Given the description of an element on the screen output the (x, y) to click on. 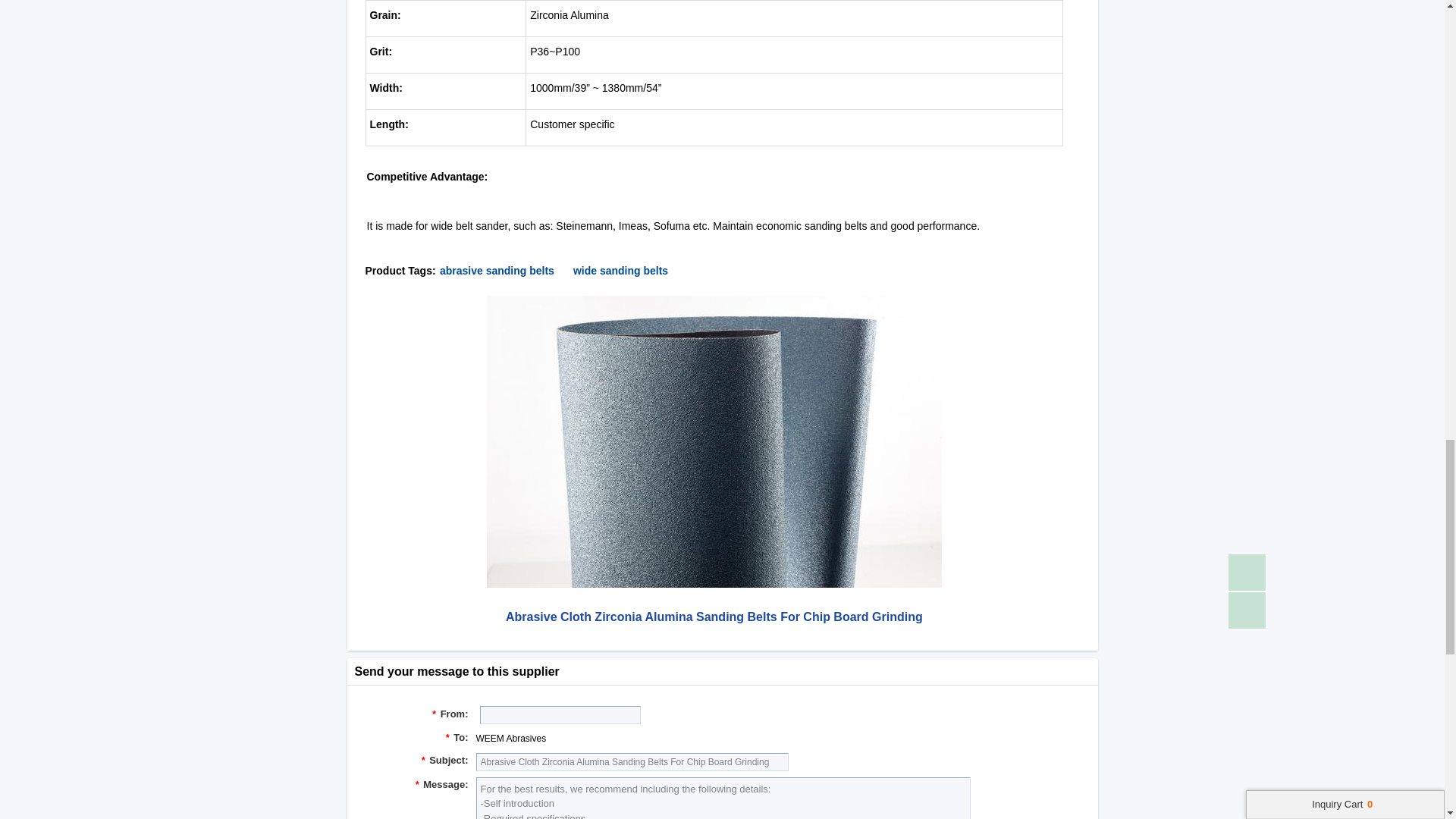
Quality abrasive sanding belts for sale (496, 269)
abrasive sanding belts (496, 269)
Quality wide sanding belts for sale (620, 269)
wide sanding belts (620, 269)
